Given the description of an element on the screen output the (x, y) to click on. 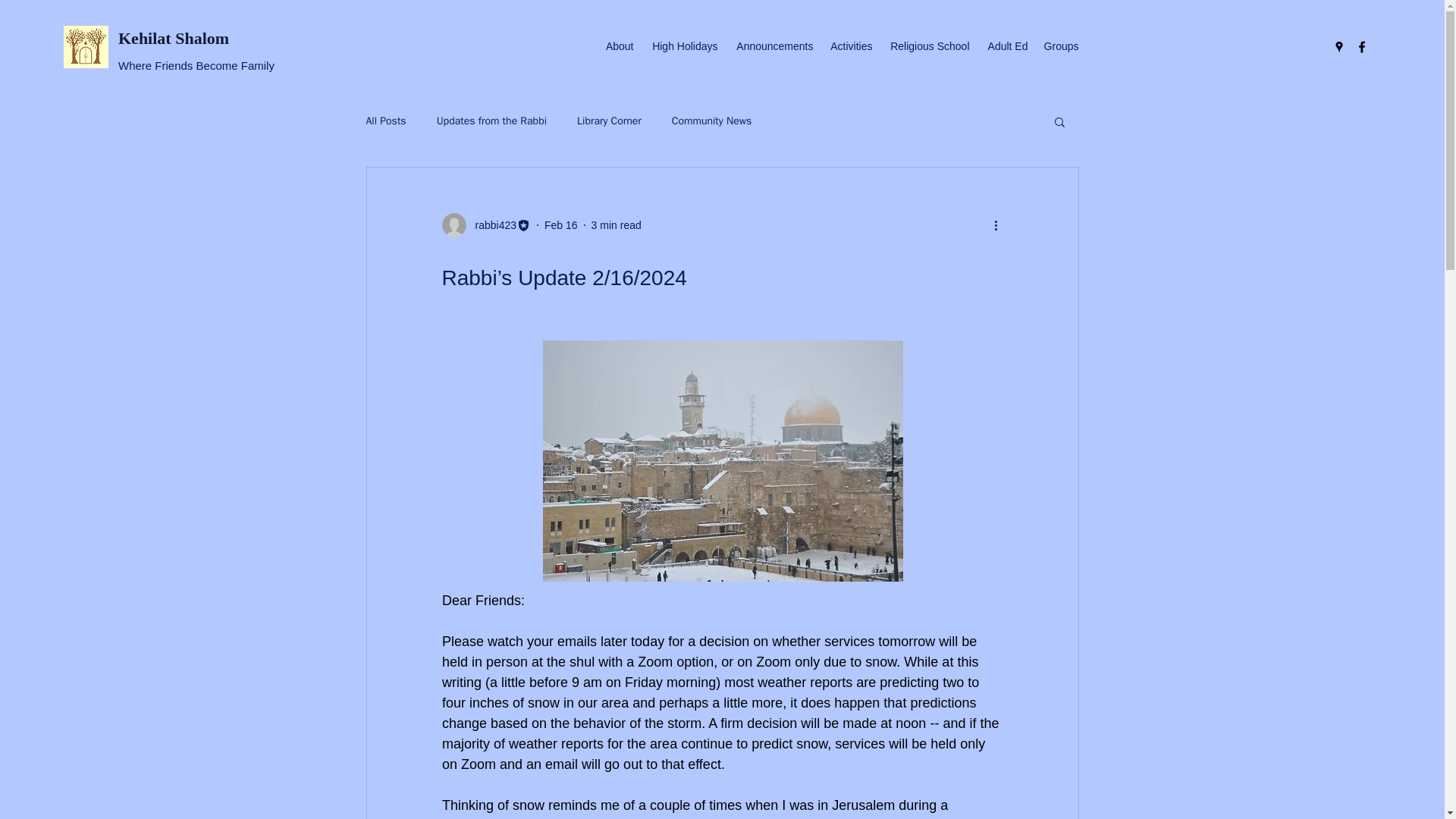
All Posts (385, 120)
Activities (850, 46)
Announcements (773, 46)
Religious School (927, 46)
Community News (711, 120)
rabbi423 (486, 224)
3 min read (616, 224)
About (617, 46)
rabbi423 (490, 225)
Updates from the Rabbi (491, 120)
